Given the description of an element on the screen output the (x, y) to click on. 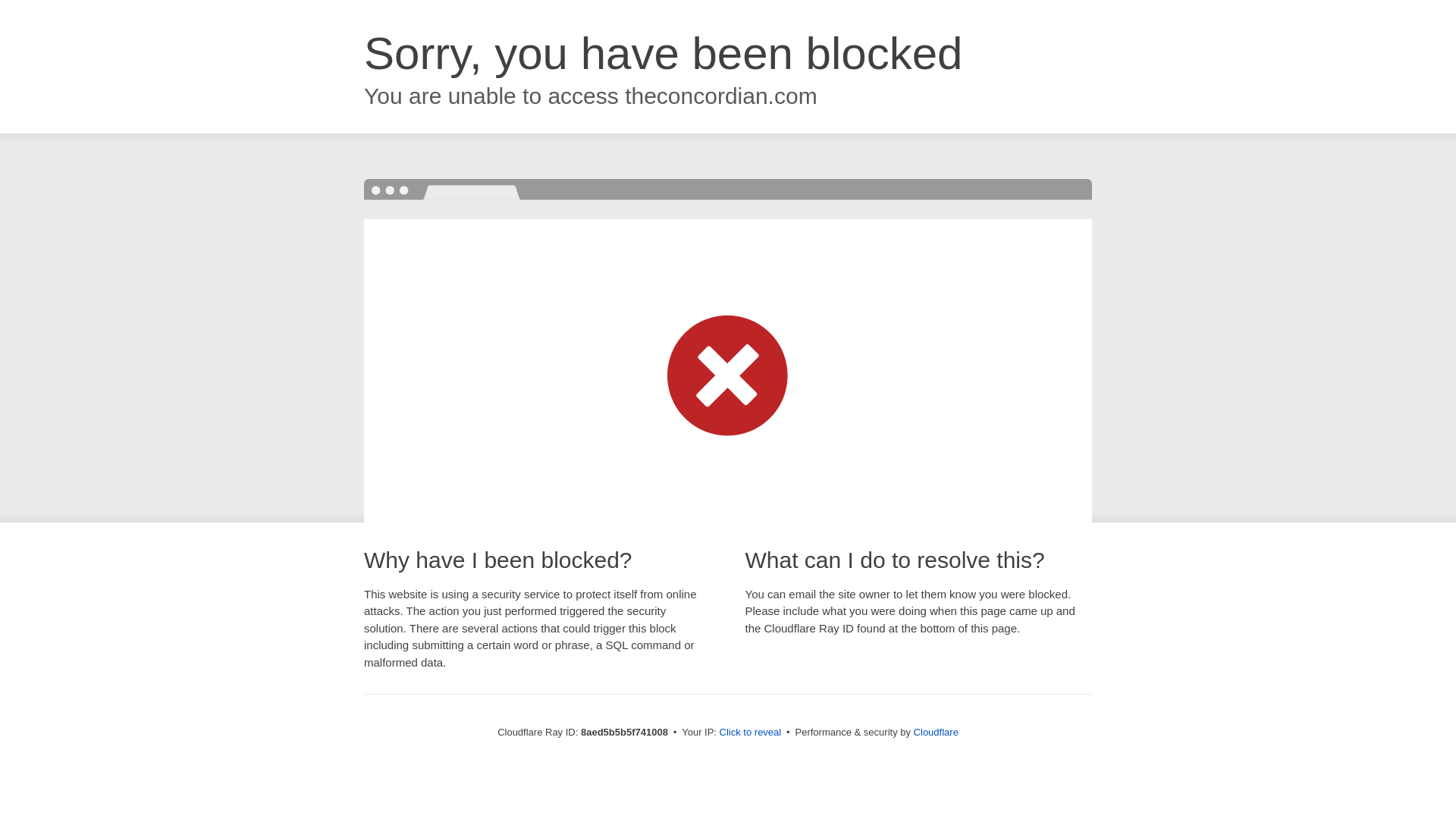
Click to reveal (750, 732)
Cloudflare (936, 731)
